Given the description of an element on the screen output the (x, y) to click on. 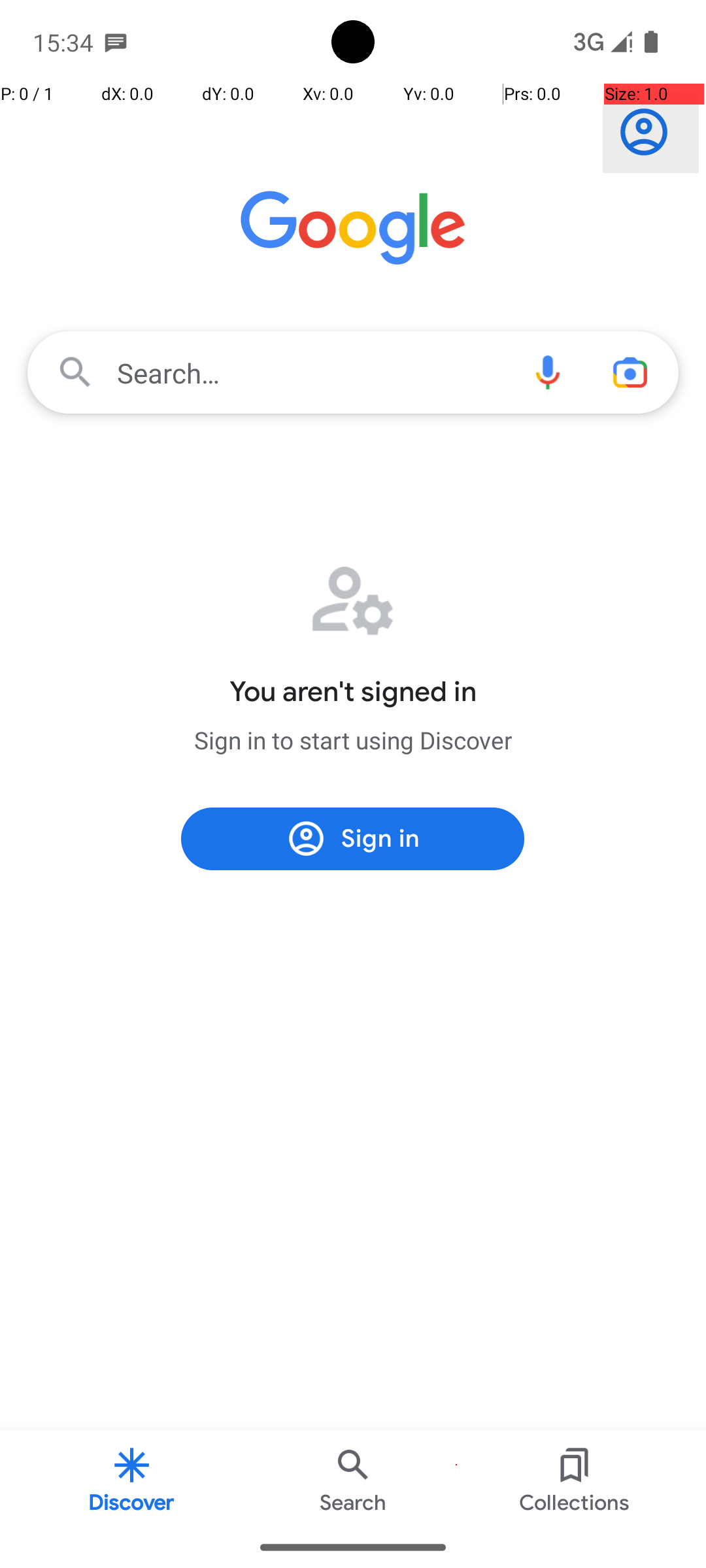
Sign in Element type: android.widget.FrameLayout (650, 131)
Camera search Element type: android.widget.ImageButton (629, 372)
Discover Element type: android.widget.FrameLayout (131, 1478)
Collections Button Element type: android.widget.FrameLayout (574, 1478)
You aren't signed in Element type: android.widget.TextView (352, 691)
Sign in to start using Discover Element type: android.widget.TextView (352, 739)
